Given the description of an element on the screen output the (x, y) to click on. 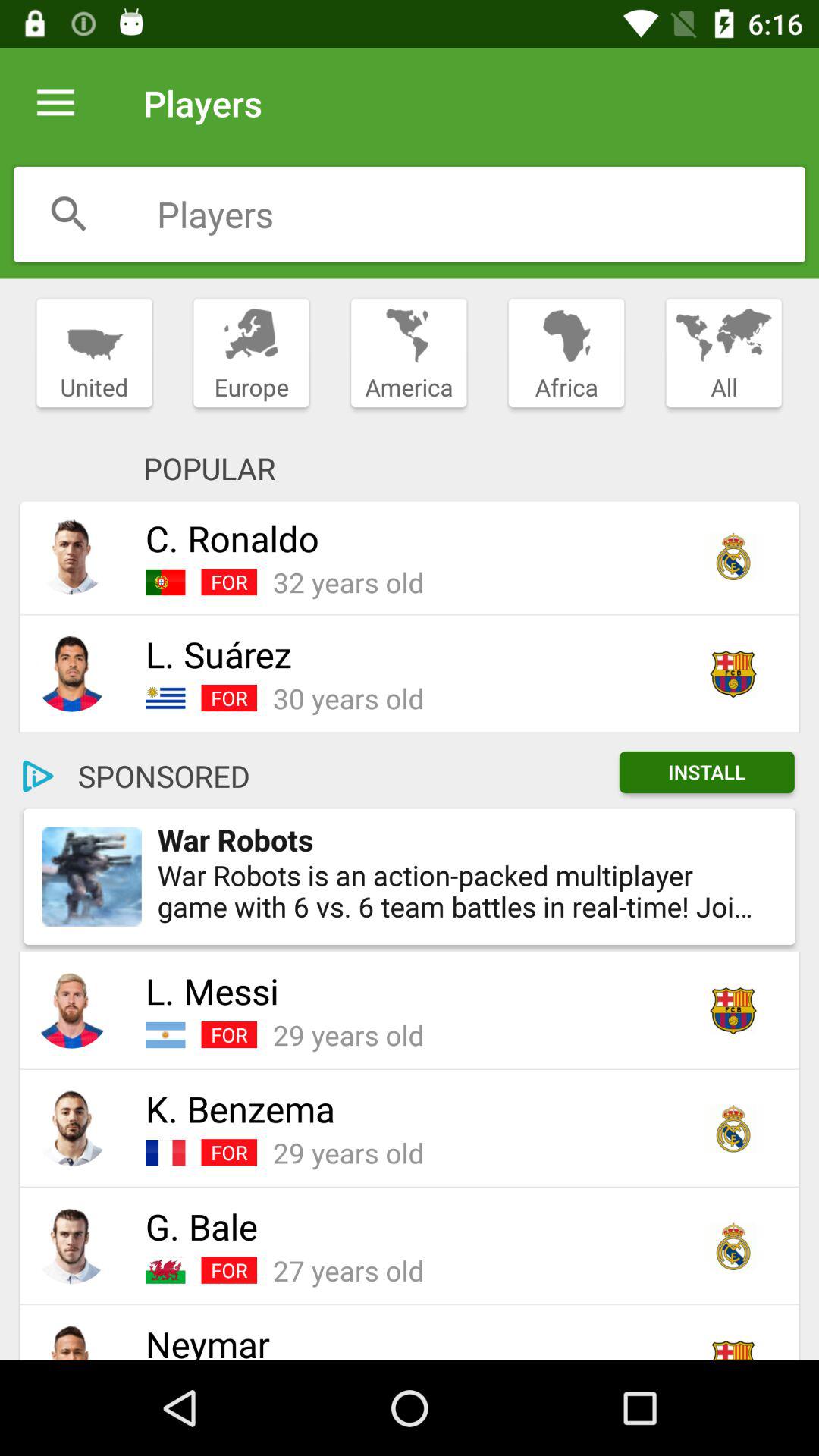
search for a player (69, 214)
